Given the description of an element on the screen output the (x, y) to click on. 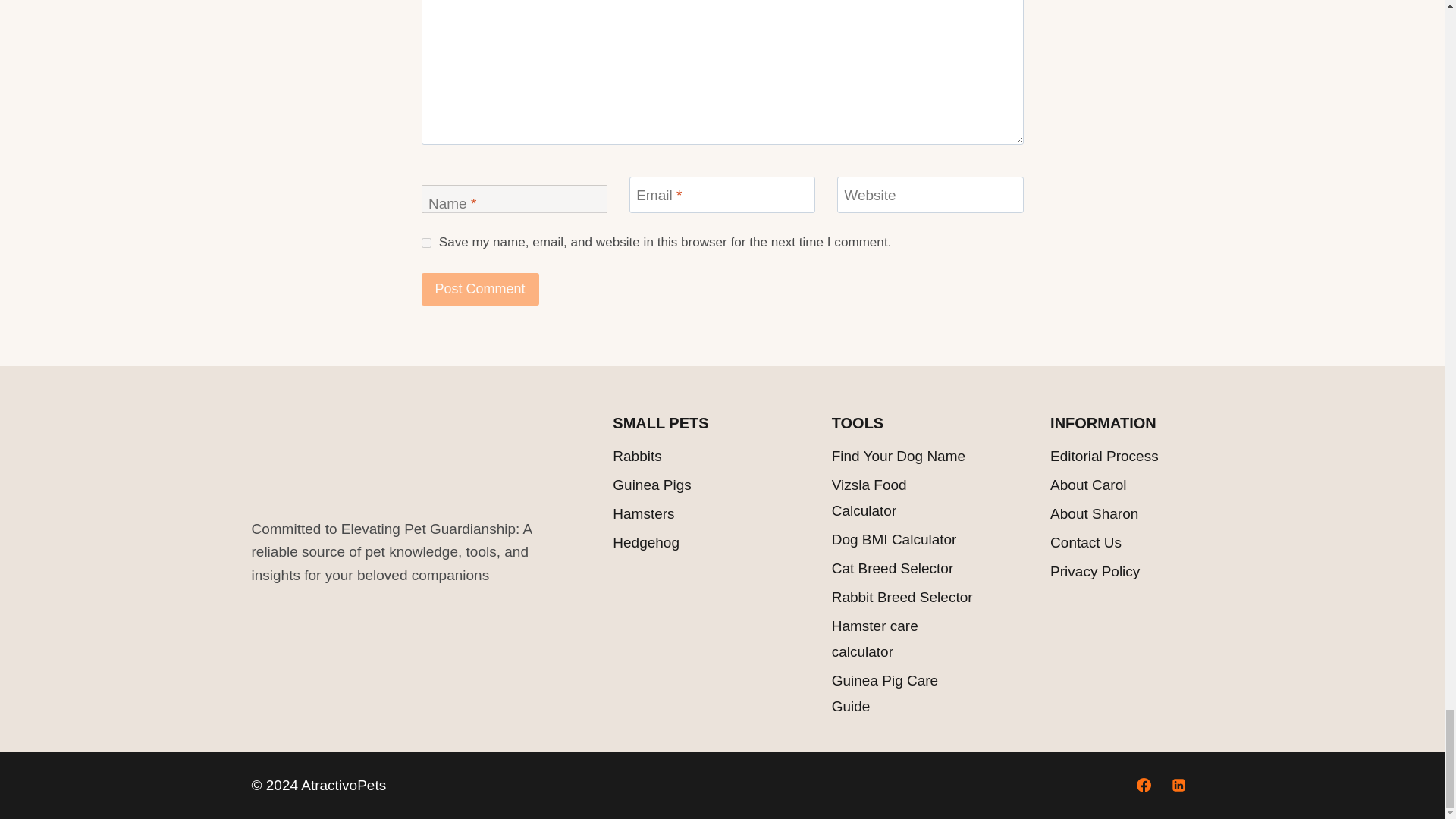
Post Comment (480, 288)
yes (426, 243)
